Given the description of an element on the screen output the (x, y) to click on. 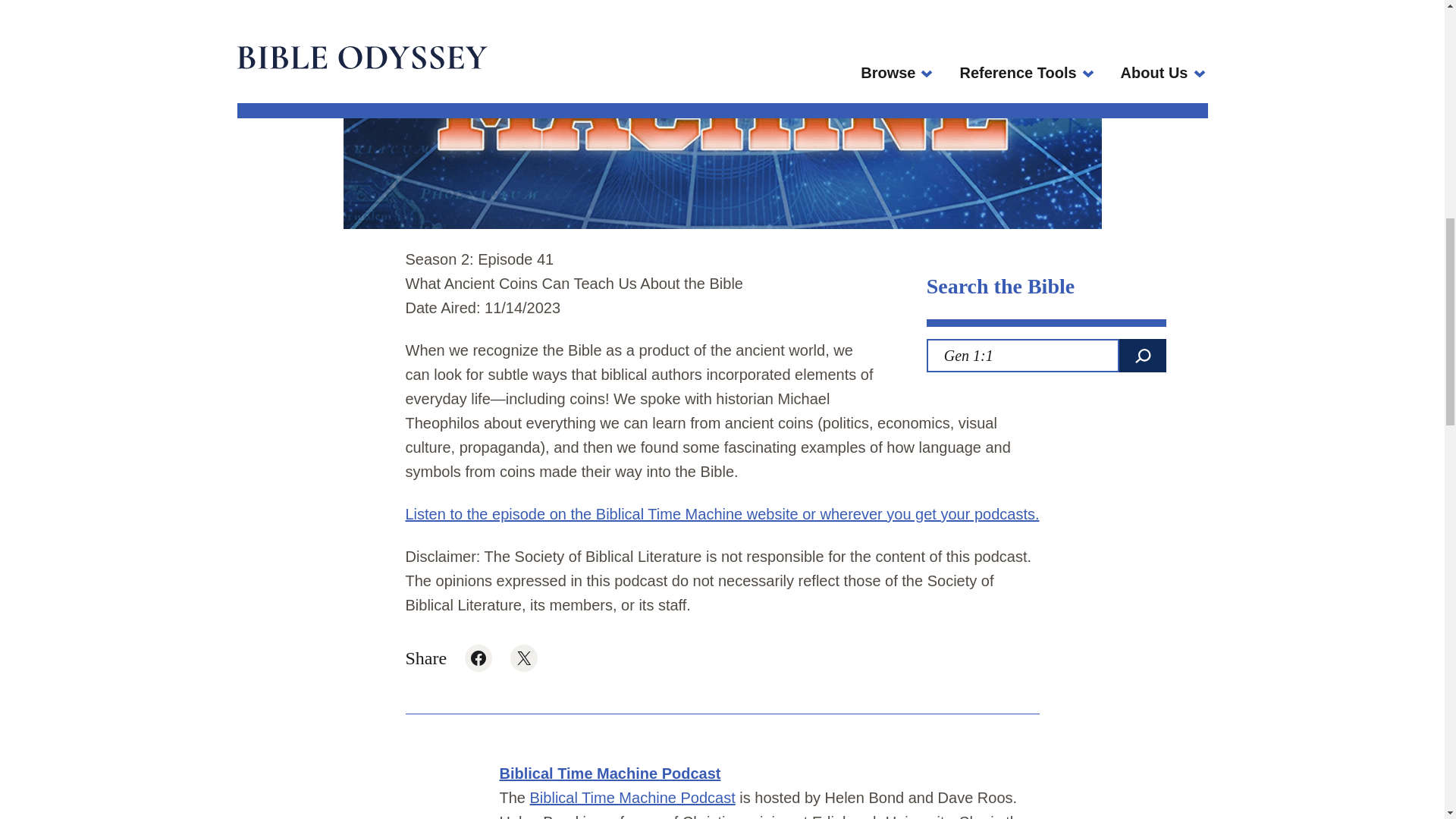
 - opens in a new window (524, 657)
Share on Facebook (478, 657)
Search (1142, 355)
 - opens in a new window (478, 657)
Share on Twitter (524, 657)
Biblical Time Machine Podcast (632, 797)
 - opens in a new window (721, 514)
 - opens in a new window (632, 797)
Biblical Time Machine Podcast (609, 773)
